Given the description of an element on the screen output the (x, y) to click on. 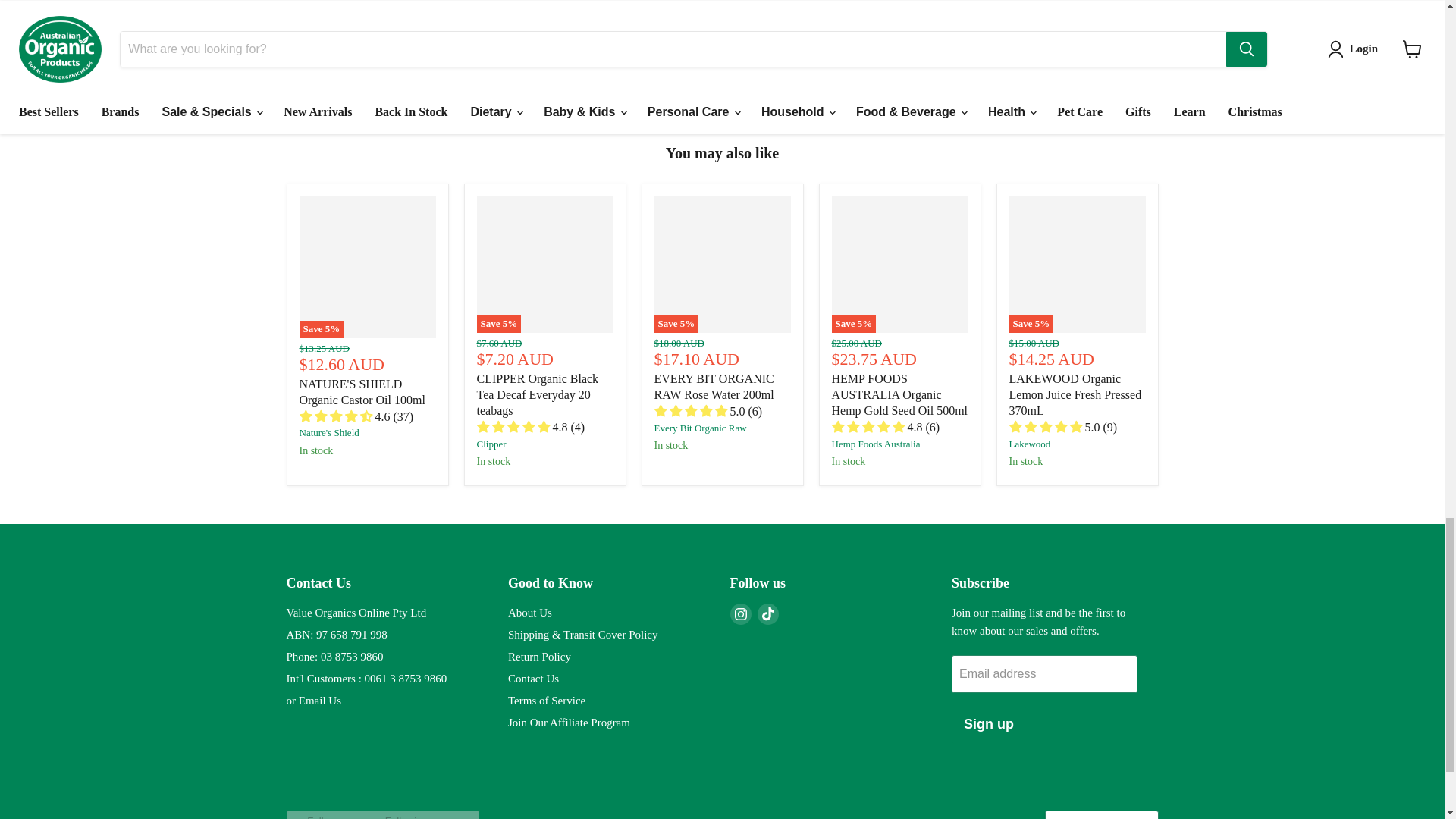
TikTok (767, 613)
Lakewood (1029, 443)
Hemp Foods Australia (875, 443)
Clipper (490, 443)
Nature's Shield (328, 432)
Instagram (740, 613)
Every Bit Organic Raw (699, 428)
